Given the description of an element on the screen output the (x, y) to click on. 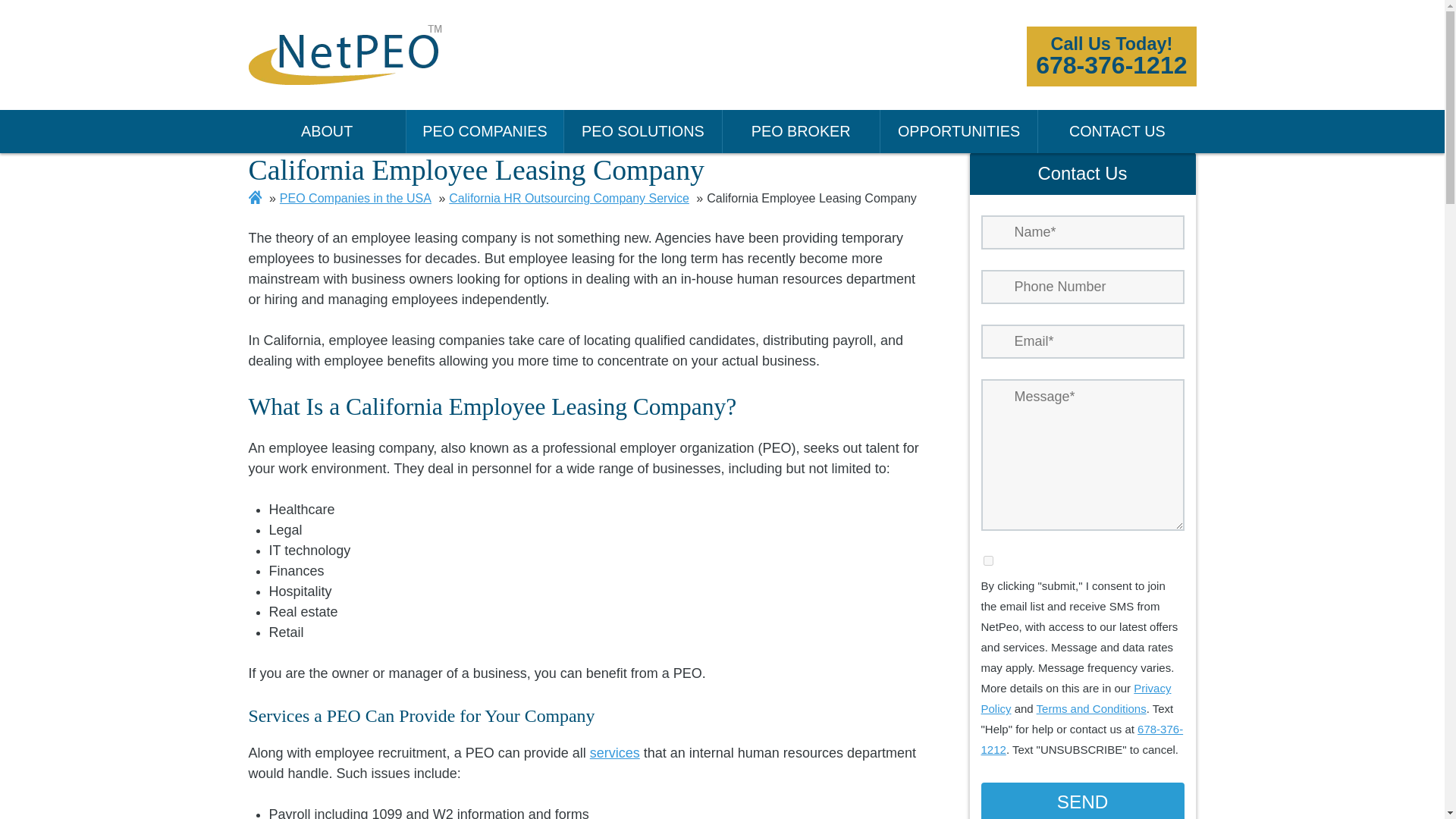
Send (1110, 56)
ABOUT (1083, 800)
PEO COMPANIES (327, 131)
1 (485, 131)
PEO SOLUTIONS (987, 560)
PEO BROKER (643, 131)
